Given the description of an element on the screen output the (x, y) to click on. 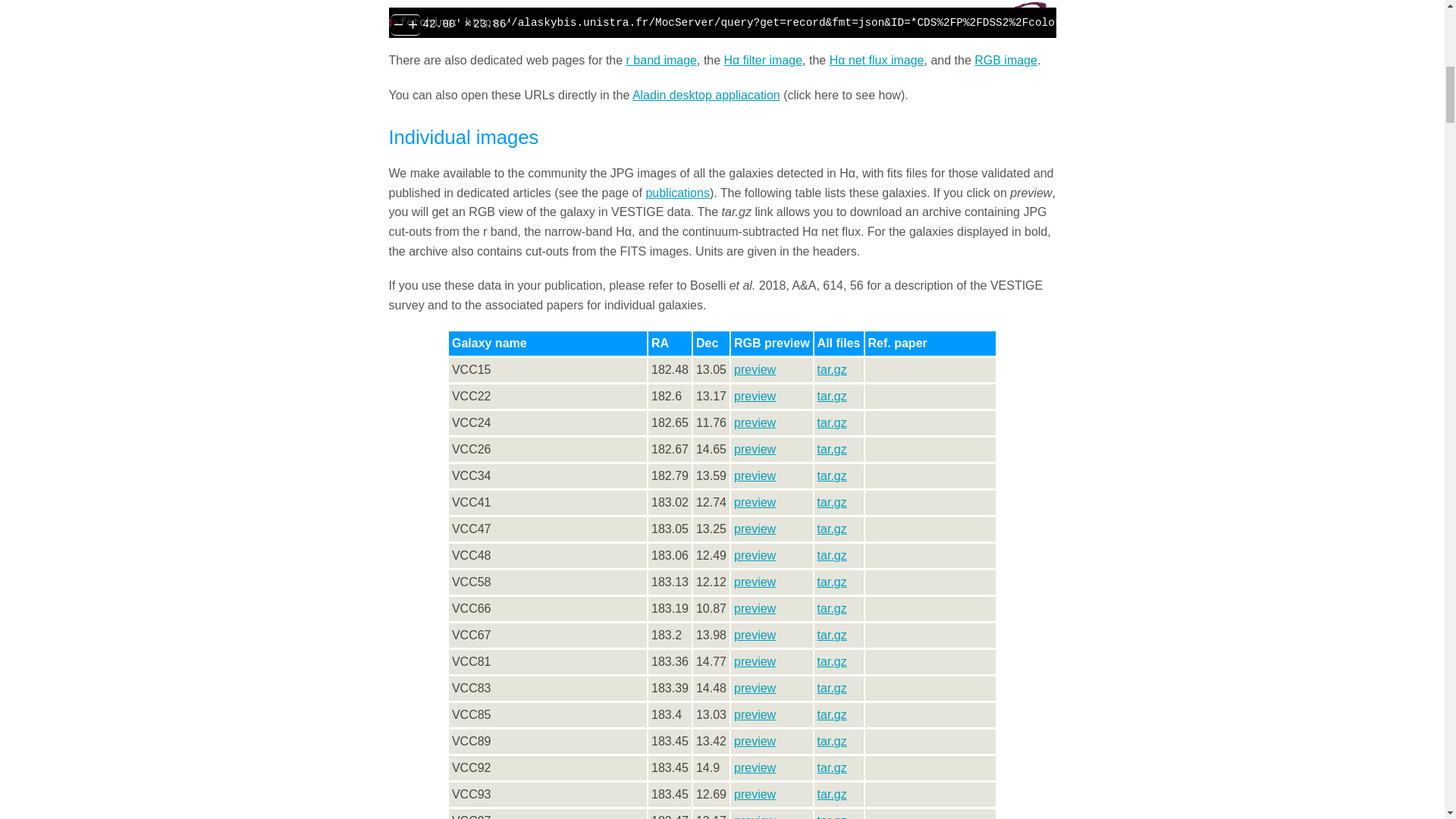
tar.gz (831, 422)
tar.gz (831, 449)
preview (754, 475)
preview (754, 528)
Aladin desktop appliacation (705, 94)
tar.gz (831, 502)
preview (754, 369)
tar.gz (831, 395)
preview (754, 395)
preview (754, 502)
tar.gz (831, 528)
preview (754, 554)
tar.gz (831, 475)
tar.gz (831, 369)
publications (677, 192)
